Given the description of an element on the screen output the (x, y) to click on. 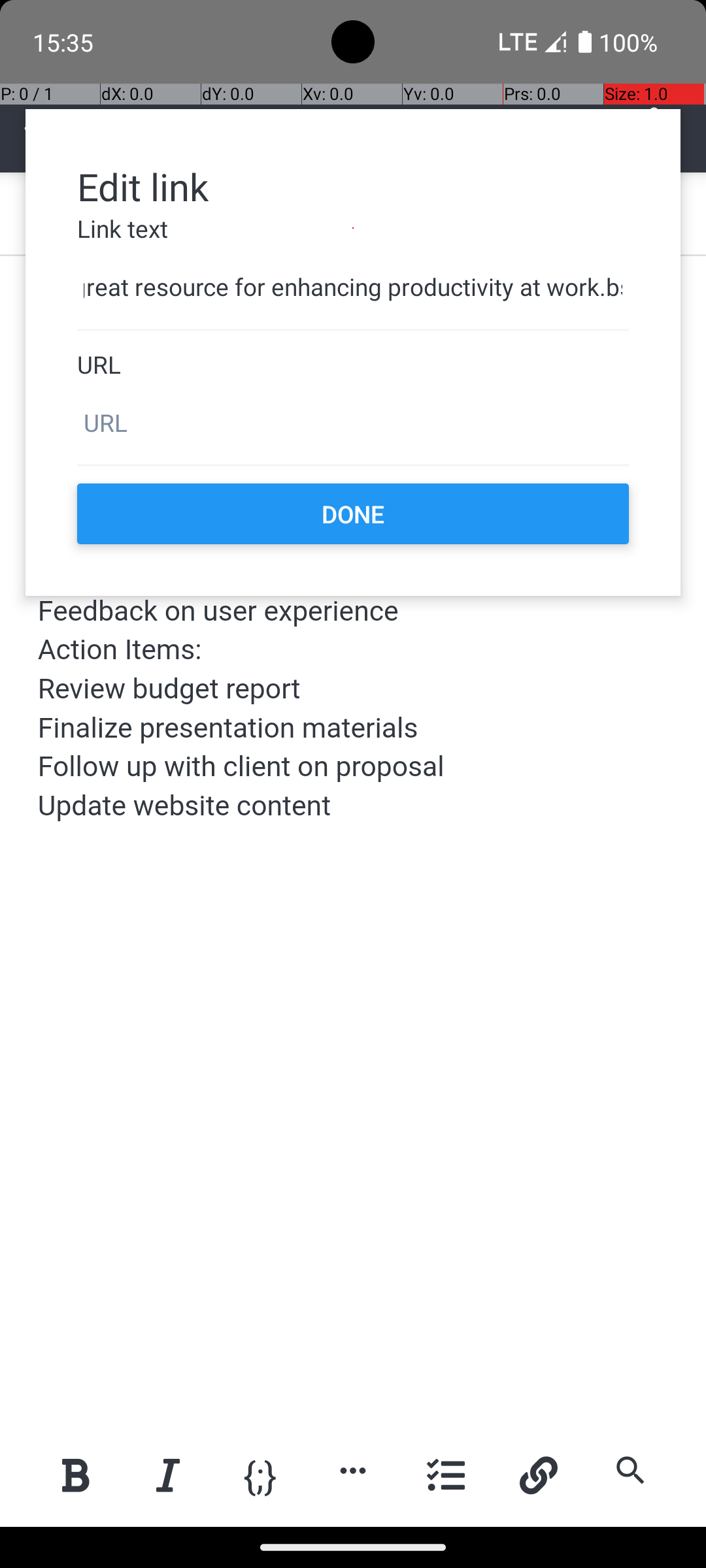
Edit link Element type: android.widget.TextView (352, 185)
Link text Element type: android.widget.TextView (352, 228)
A description of my favorite weA great resource for enhancing productivity at work.bsite for productivity tips. Element type: android.widget.EditText (352, 287)
URL Element type: android.widget.TextView (352, 363)
DONE Element type: android.widget.TextView (352, 513)
